Given the description of an element on the screen output the (x, y) to click on. 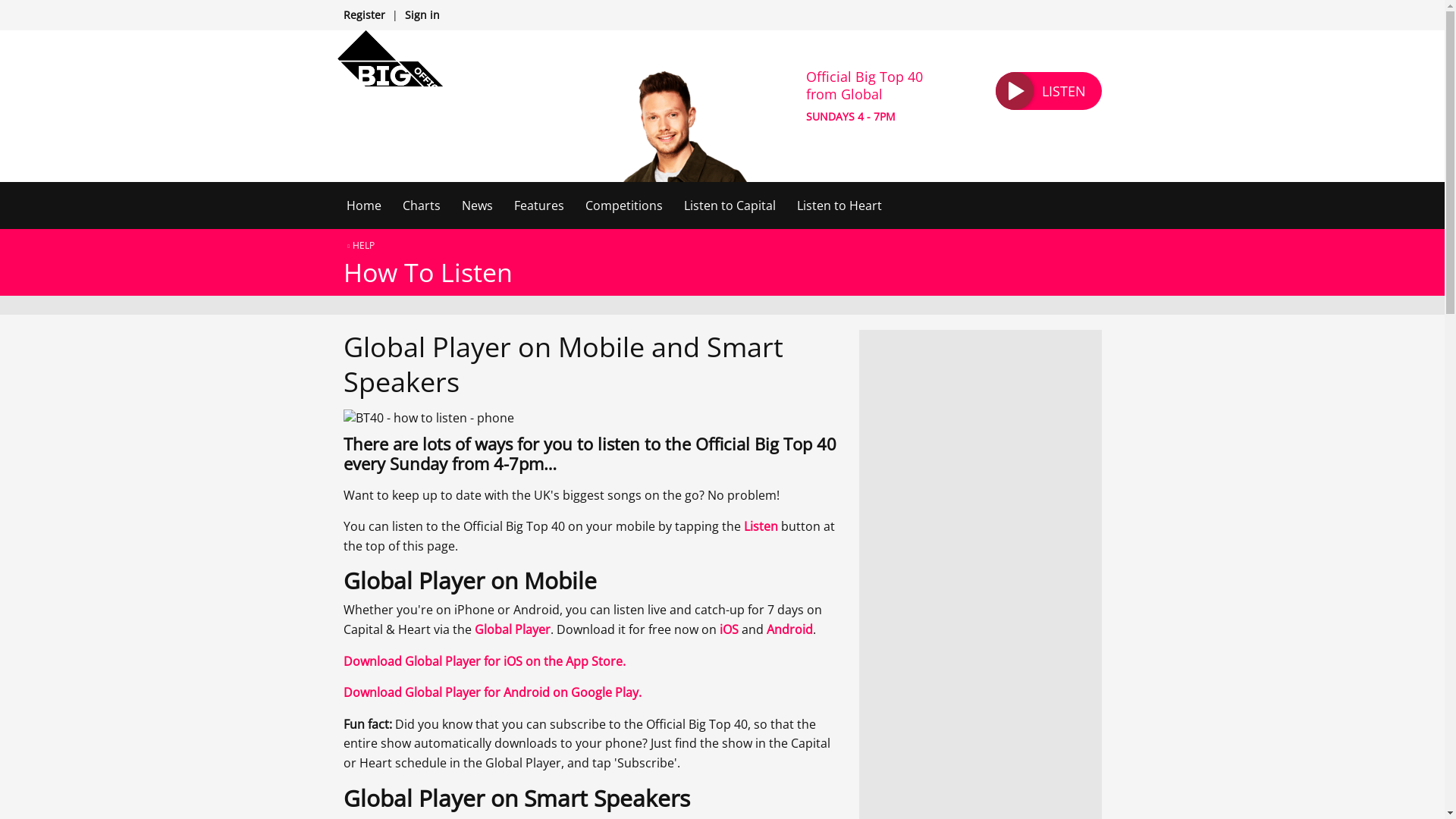
iOS (728, 629)
Download Global Player for Android on Google Play. (491, 692)
LISTEN (1047, 90)
Features (539, 205)
Sign in (421, 14)
Android (788, 629)
Listen (759, 525)
Charts (420, 205)
Listen to Heart (838, 205)
Listen to Capital (729, 205)
